Given the description of an element on the screen output the (x, y) to click on. 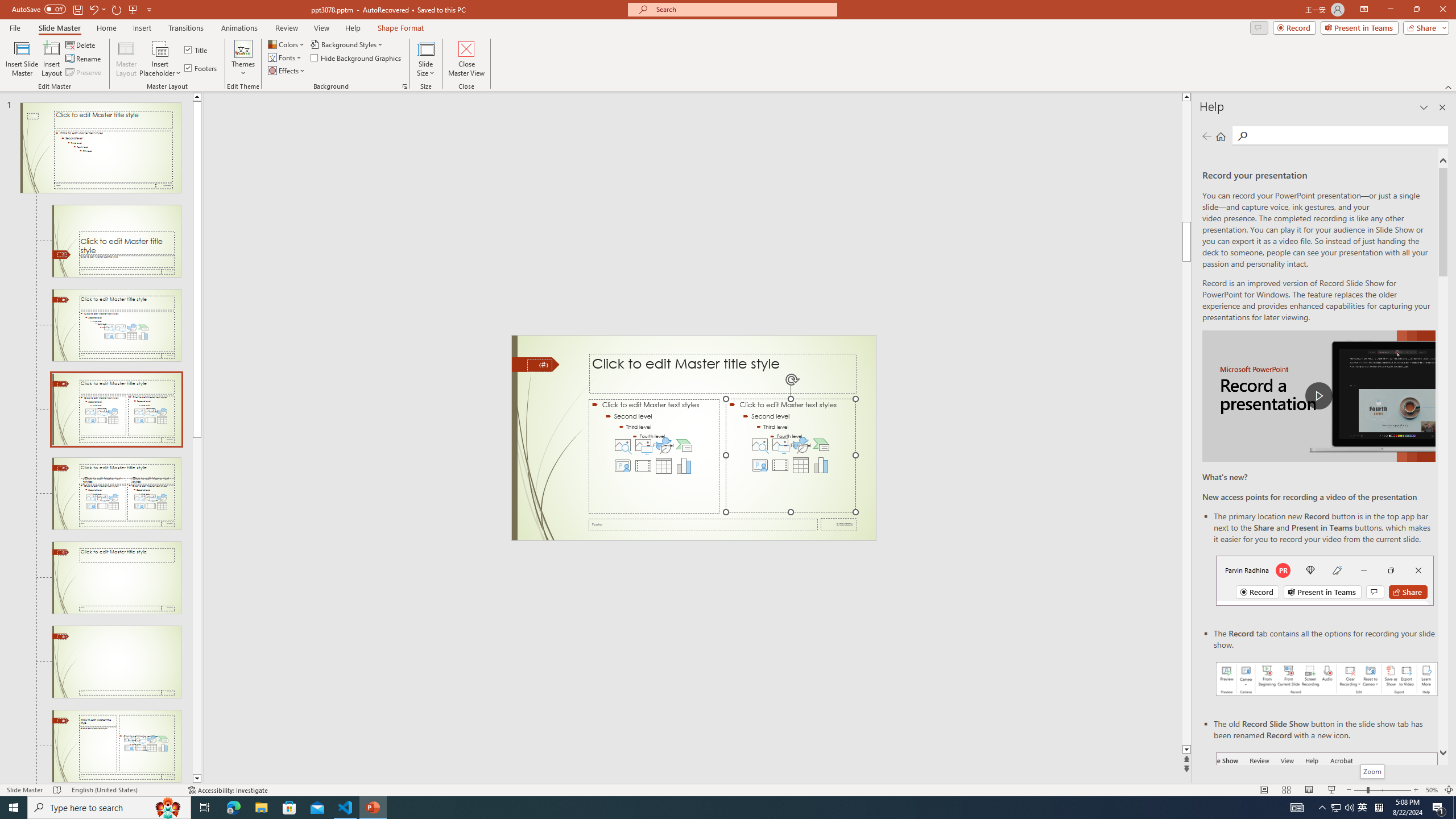
Footers (201, 67)
Record button in top bar (1324, 580)
Rename (84, 58)
Format Background... (404, 85)
Title (196, 49)
Slide Wisp Slide Master: used by slide(s) 1 (100, 147)
Stock Images (759, 444)
Insert Slide Master (21, 58)
Slide Number (539, 364)
